Given the description of an element on the screen output the (x, y) to click on. 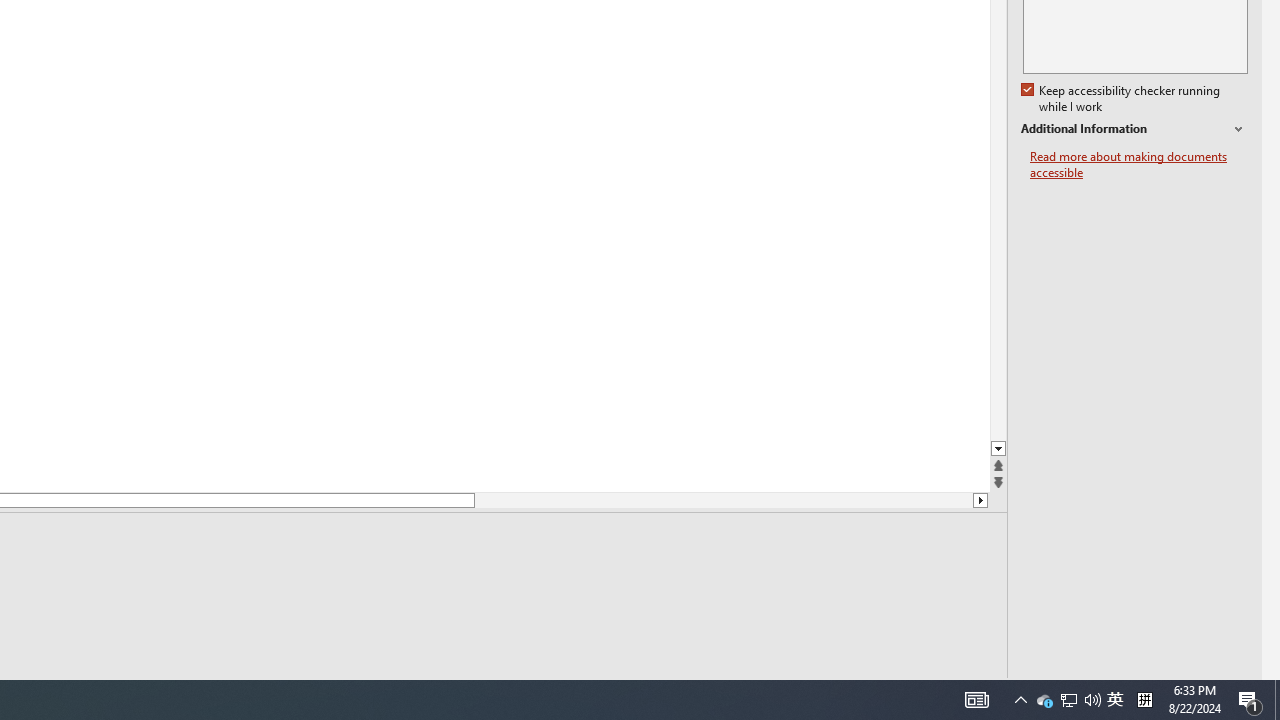
Menu On (892, 691)
Slide Show Next On (924, 691)
Slide Show Previous On (860, 691)
